Given the description of an element on the screen output the (x, y) to click on. 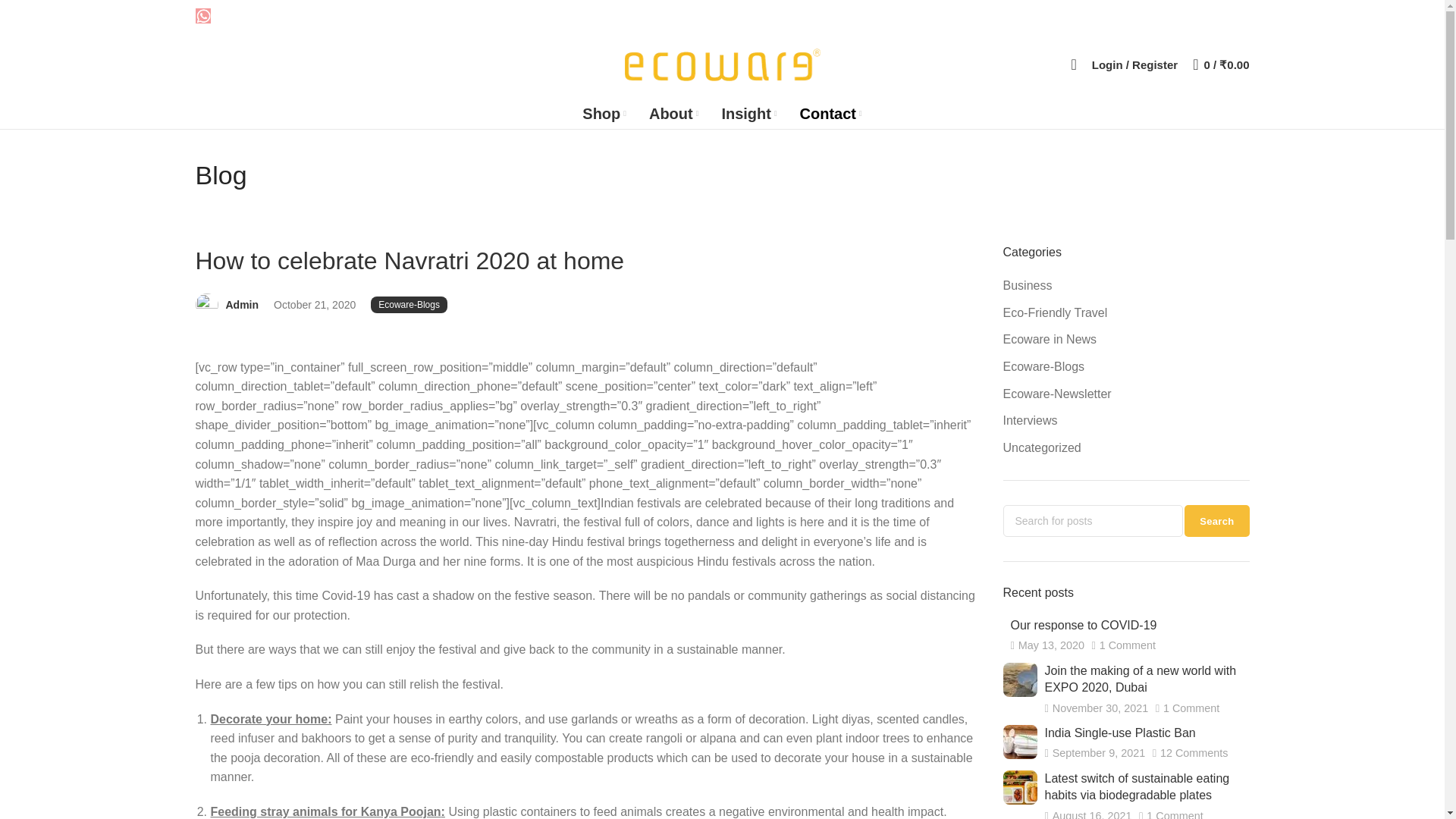
without-background-2 (1019, 679)
DSC01174-Recovered (1019, 787)
